Given the description of an element on the screen output the (x, y) to click on. 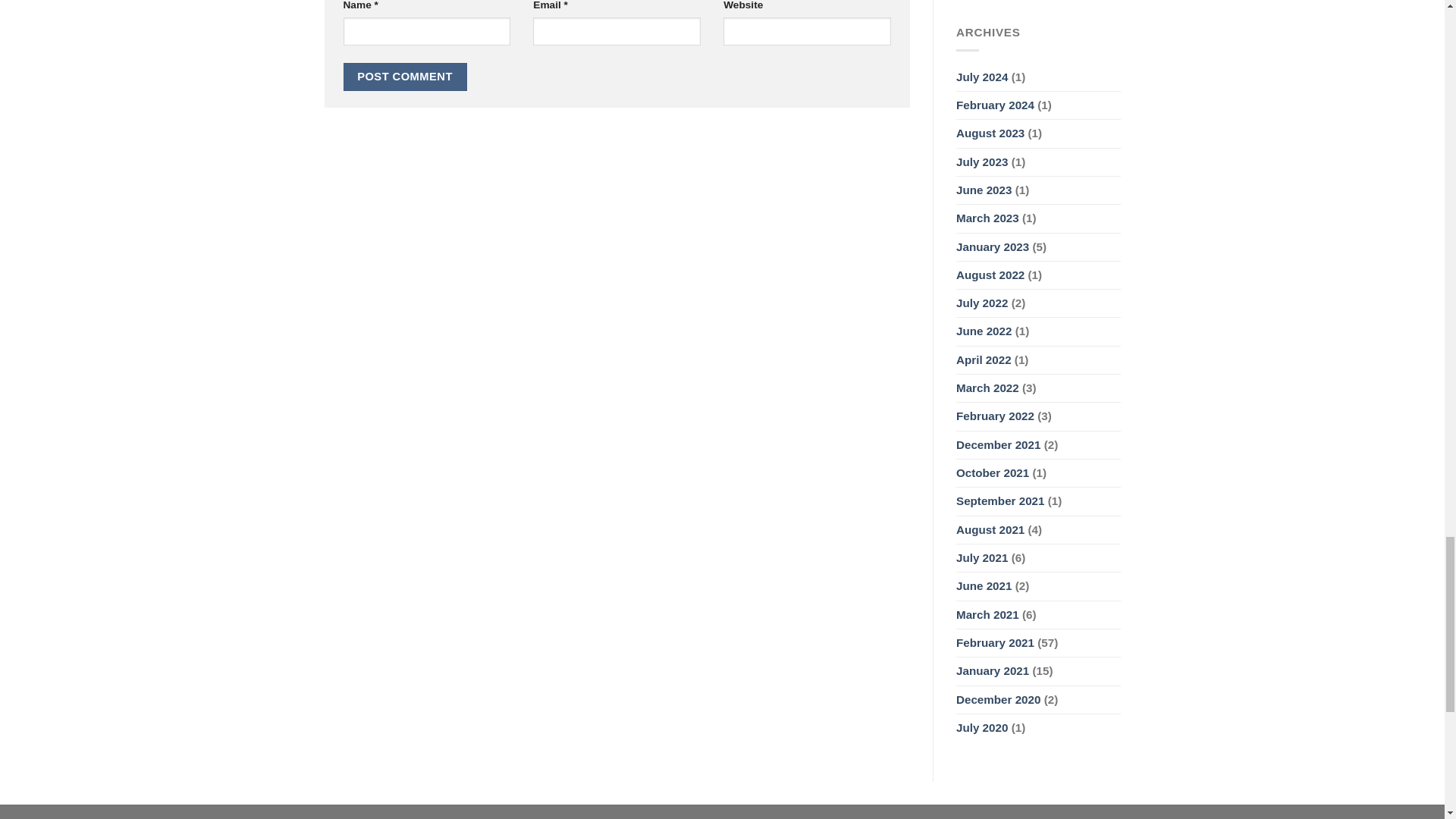
Post Comment (403, 76)
